Given the description of an element on the screen output the (x, y) to click on. 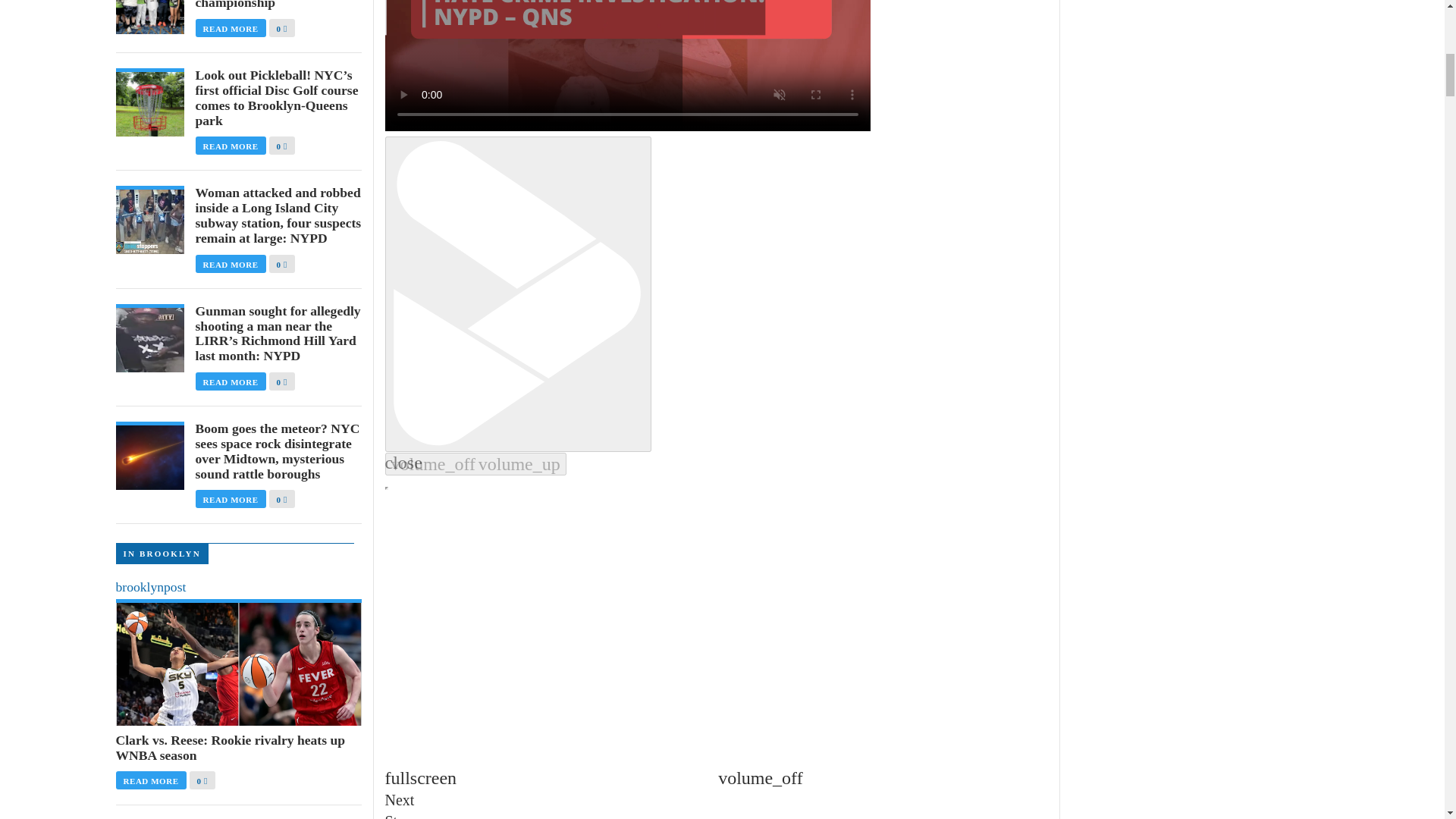
3rd party ad content (1184, 28)
3rd party ad content (1184, 162)
3rd party ad content (1184, 742)
3rd party ad content (1184, 555)
3rd party ad content (1184, 361)
